Given the description of an element on the screen output the (x, y) to click on. 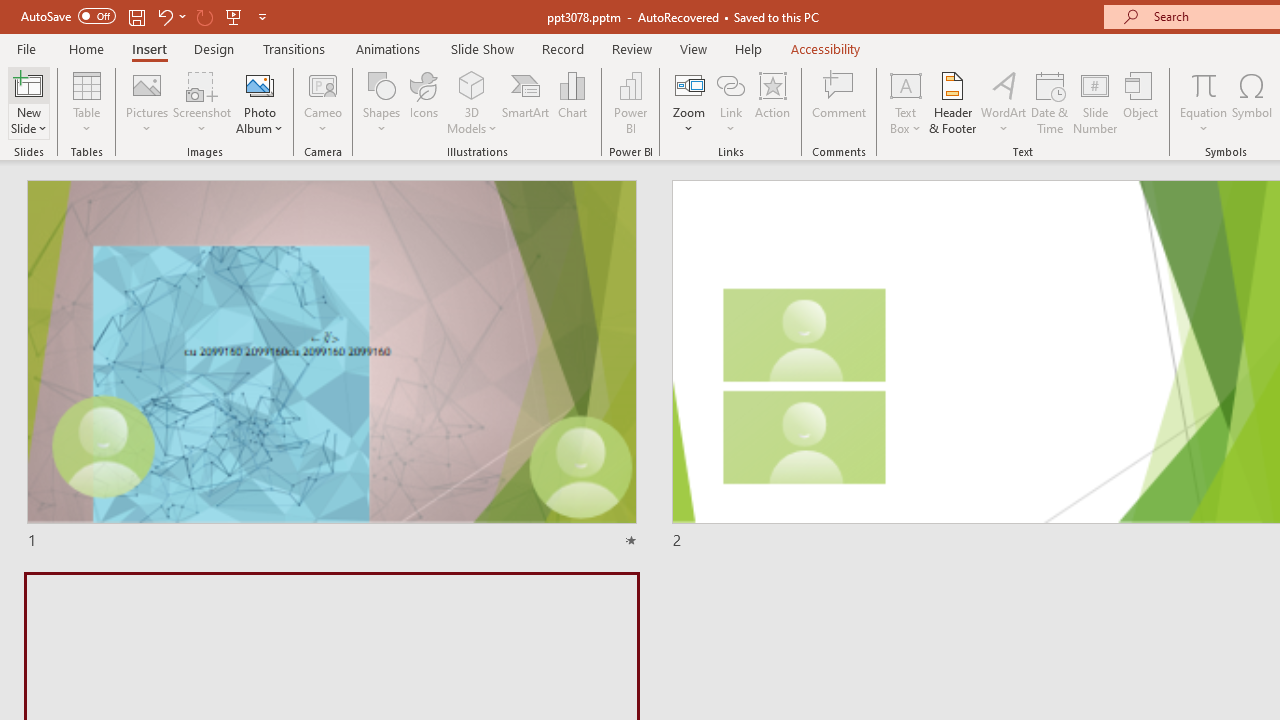
Table (86, 102)
Screenshot (202, 102)
Action (772, 102)
Header & Footer... (952, 102)
Chart... (572, 102)
